Given the description of an element on the screen output the (x, y) to click on. 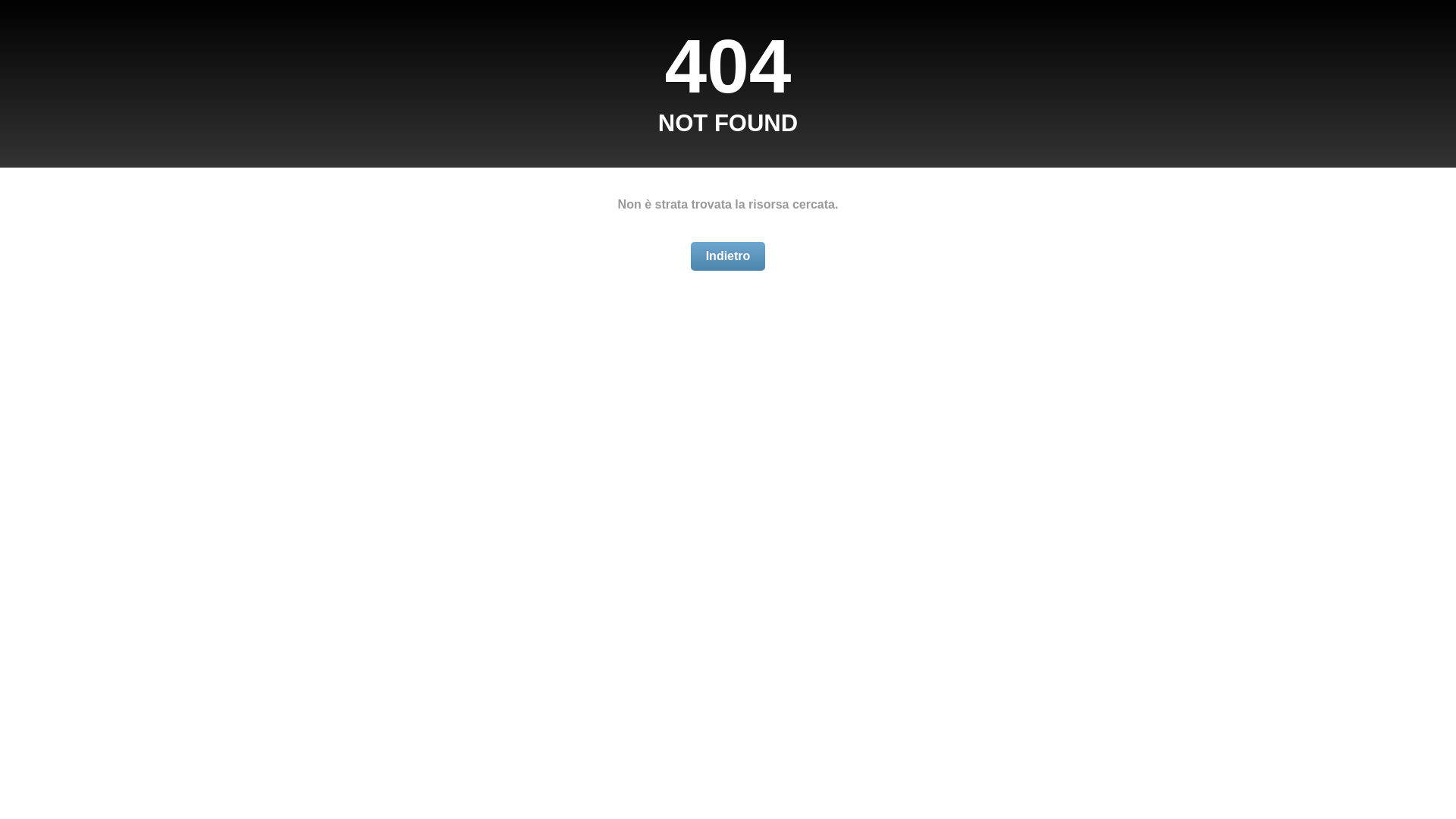
Indietro Element type: text (727, 255)
